Given the description of an element on the screen output the (x, y) to click on. 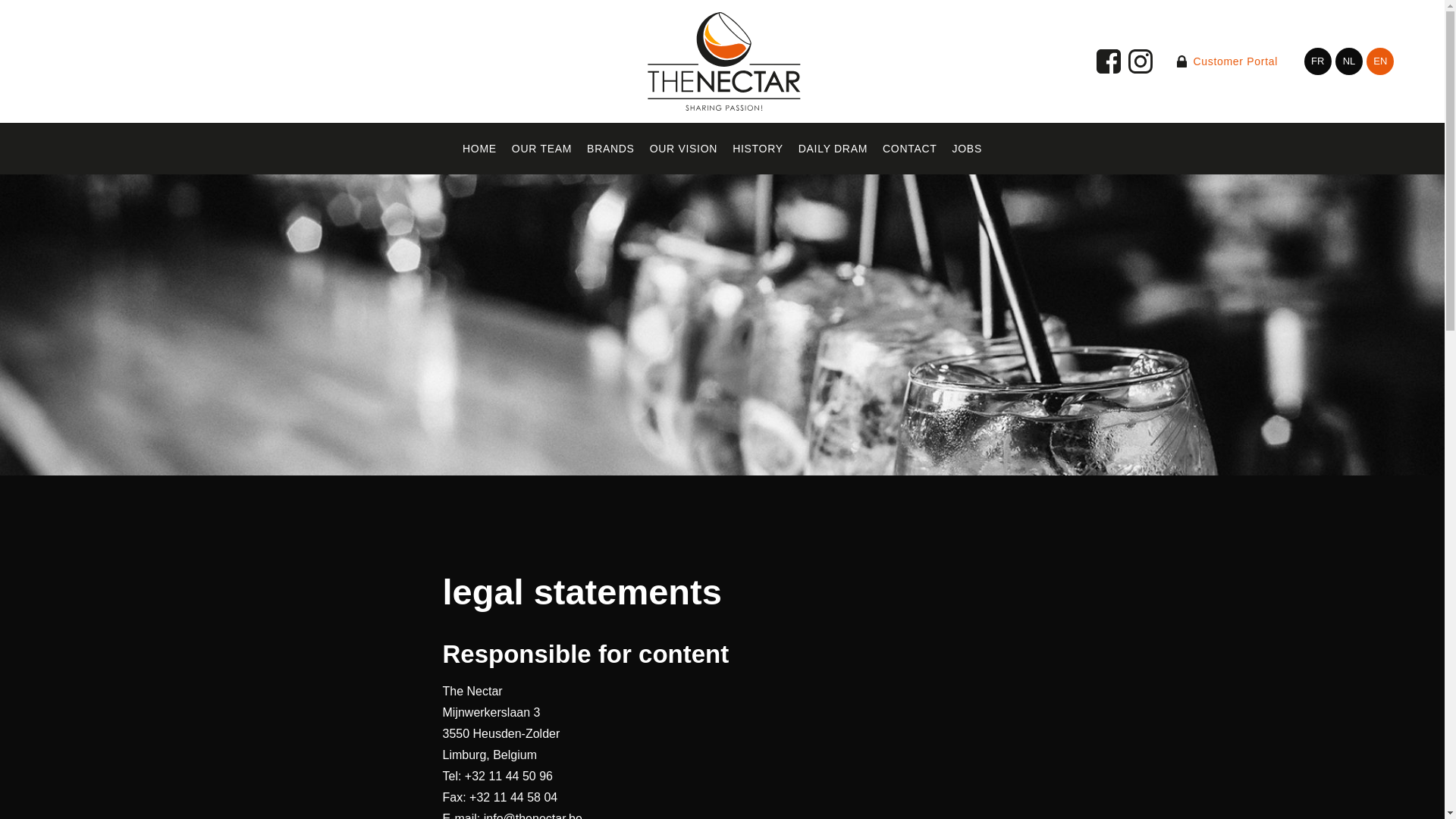
OUR VISION (683, 148)
BRANDS (610, 148)
JOBS (967, 148)
Customer Portal (1227, 61)
HOME (478, 148)
FR (1318, 61)
CONTACT (909, 148)
NL (1348, 61)
EN (1380, 61)
DAILY DRAM (832, 148)
HISTORY (757, 148)
OUR TEAM (541, 148)
